Given the description of an element on the screen output the (x, y) to click on. 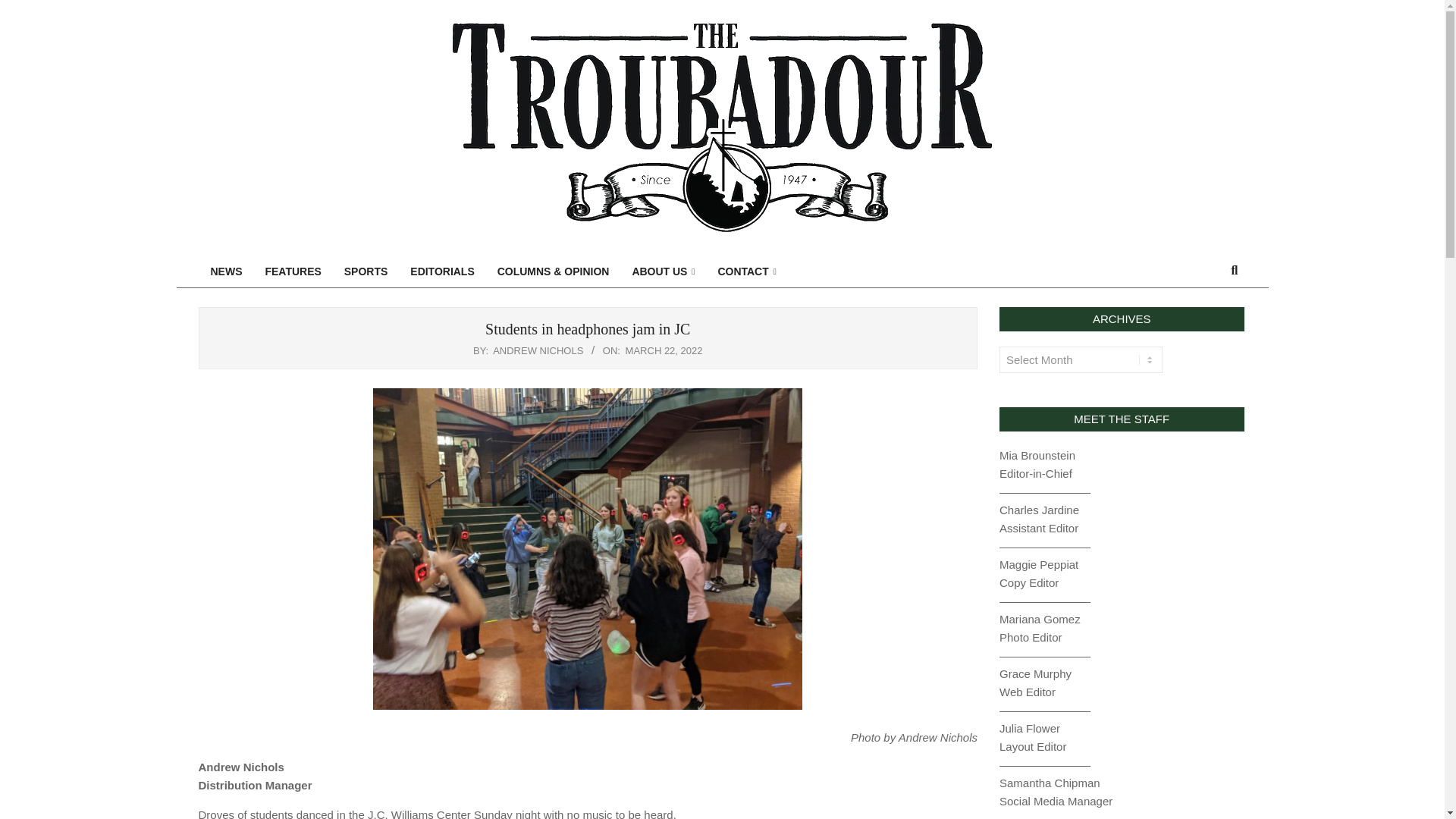
ABOUT US (663, 271)
ANDREW NICHOLS (538, 350)
EDITORIALS (441, 271)
Posts by Andrew Nichols (538, 350)
Search (21, 8)
FEATURES (292, 271)
SPORTS (365, 271)
Tuesday, March 22, 2022, 6:05 pm (664, 350)
NEWS (225, 271)
CONTACT (746, 271)
